Given the description of an element on the screen output the (x, y) to click on. 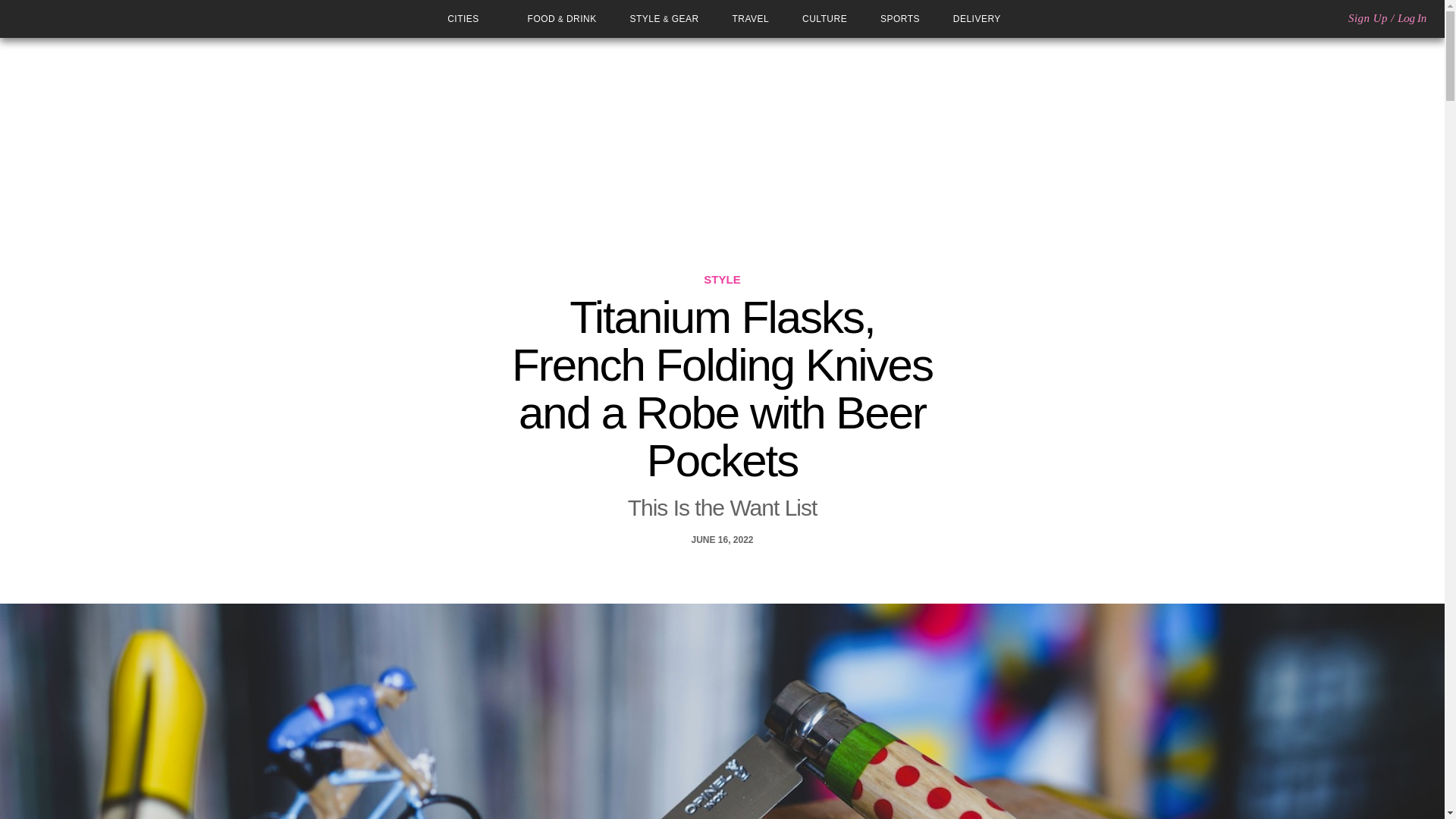
DELIVERY (977, 18)
Log In (1411, 18)
Pinterest (732, 570)
TRAVEL (751, 18)
CULTURE (824, 18)
Sign Up (1367, 18)
SPORTS (900, 18)
UrbanDaddy (67, 18)
Save (755, 570)
